Given the description of an element on the screen output the (x, y) to click on. 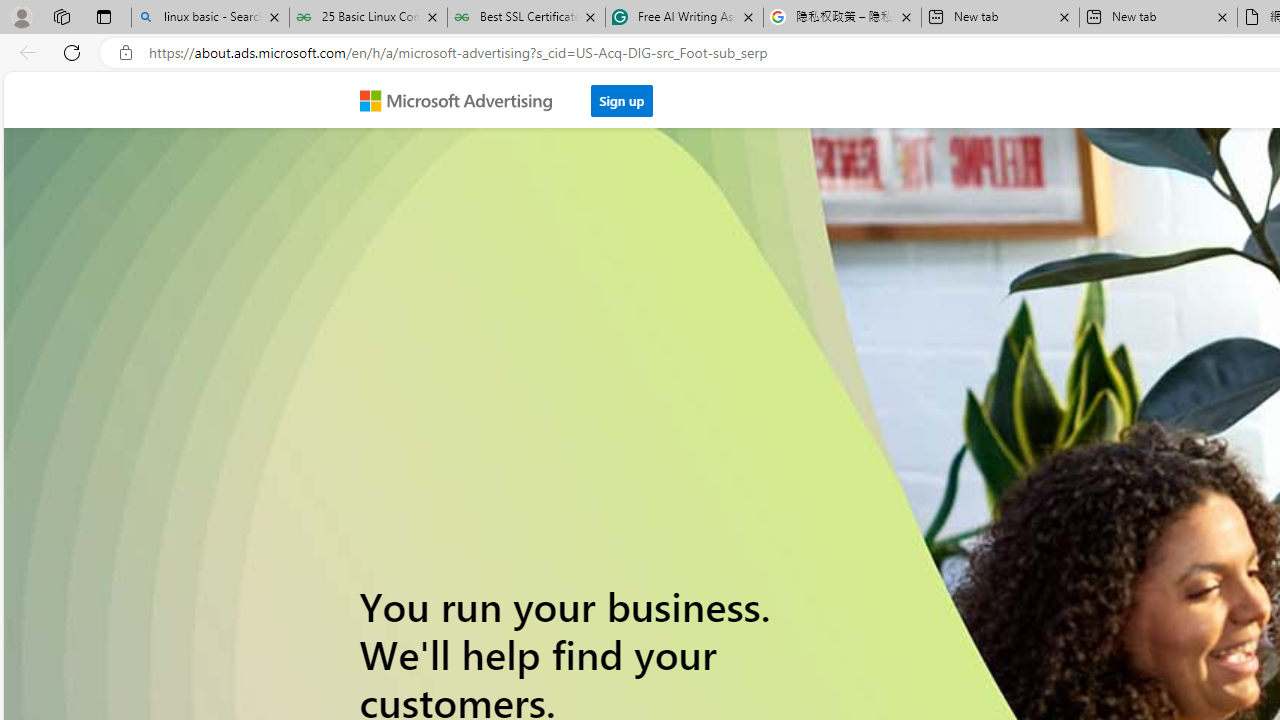
Sign up (621, 95)
Free AI Writing Assistance for Students | Grammarly (683, 17)
linux basic - Search (210, 17)
25 Basic Linux Commands For Beginners - GeeksforGeeks (368, 17)
Best SSL Certificates Provider in India - GeeksforGeeks (526, 17)
Sign up (622, 100)
Microsoft Advertising (463, 99)
